Given the description of an element on the screen output the (x, y) to click on. 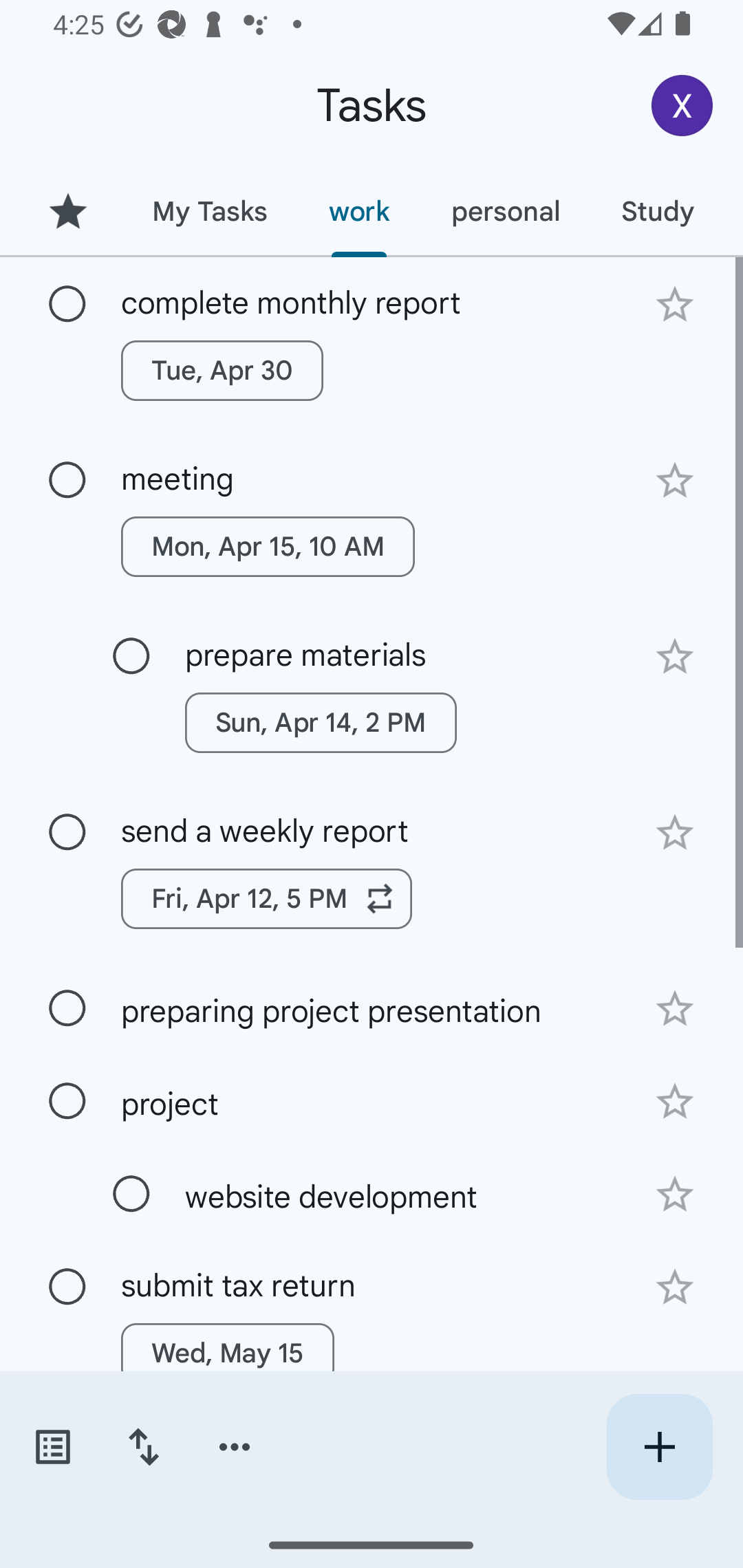
Starred (67, 211)
My Tasks (209, 211)
personal (504, 211)
Study (656, 211)
Add star (674, 303)
Mark as complete (67, 304)
Tue, Apr 30 (222, 369)
Add star (674, 480)
Mark as complete (67, 480)
Mon, Apr 15, 10 AM (267, 546)
Add star (674, 656)
Mark as complete (131, 655)
Sun, Apr 14, 2 PM (320, 722)
Add star (674, 832)
Mark as complete (67, 833)
Fri, Apr 12, 5 PM (266, 897)
Add star (674, 1007)
Mark as complete (67, 1008)
Add star (674, 1101)
Mark as complete (67, 1101)
Add star (674, 1194)
Mark as complete (131, 1193)
Add star (674, 1286)
Mark as complete (67, 1287)
Wed, May 15 (227, 1352)
Create new task (659, 1446)
Change sort order (143, 1446)
More options (234, 1446)
